Given the description of an element on the screen output the (x, y) to click on. 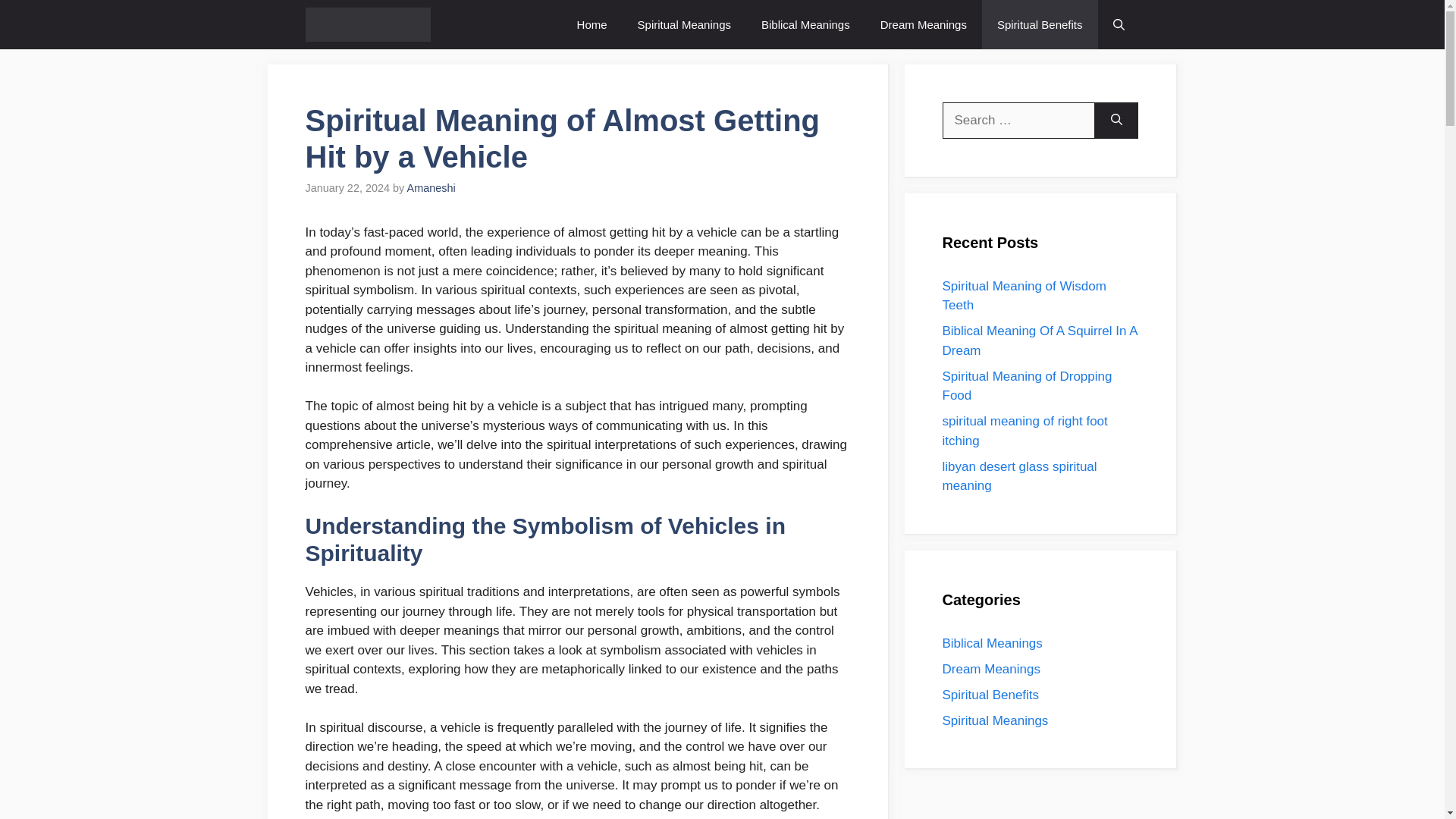
Search for: (1018, 120)
spiritual meaning of right foot itching (1024, 430)
Spiritual Meanings (995, 719)
Spiritual Meanings (684, 24)
View all posts by Amaneshi (431, 187)
Biblical Meanings (992, 642)
Biblical Meanings (804, 24)
Spiritual Learners (367, 24)
Biblical Meaning Of A Squirrel In A Dream (1039, 340)
Spiritual Meaning of Dropping Food (1027, 385)
Dream Meanings (990, 667)
libyan desert glass spiritual meaning (1019, 476)
Dream Meanings (922, 24)
Spiritual Meaning of Wisdom Teeth (1023, 295)
Home (592, 24)
